Given the description of an element on the screen output the (x, y) to click on. 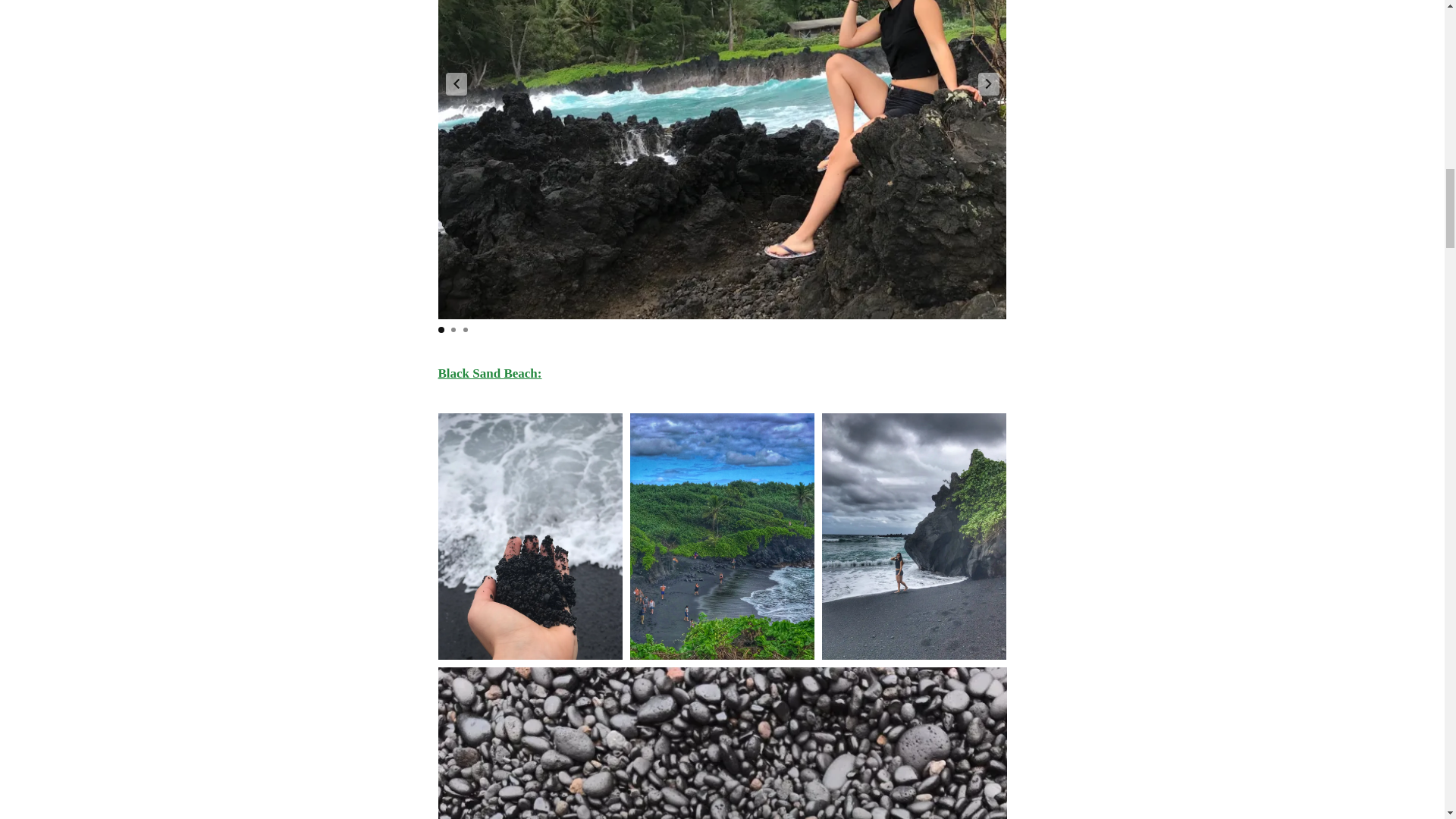
Black Sand Beach: (489, 373)
